Given the description of an element on the screen output the (x, y) to click on. 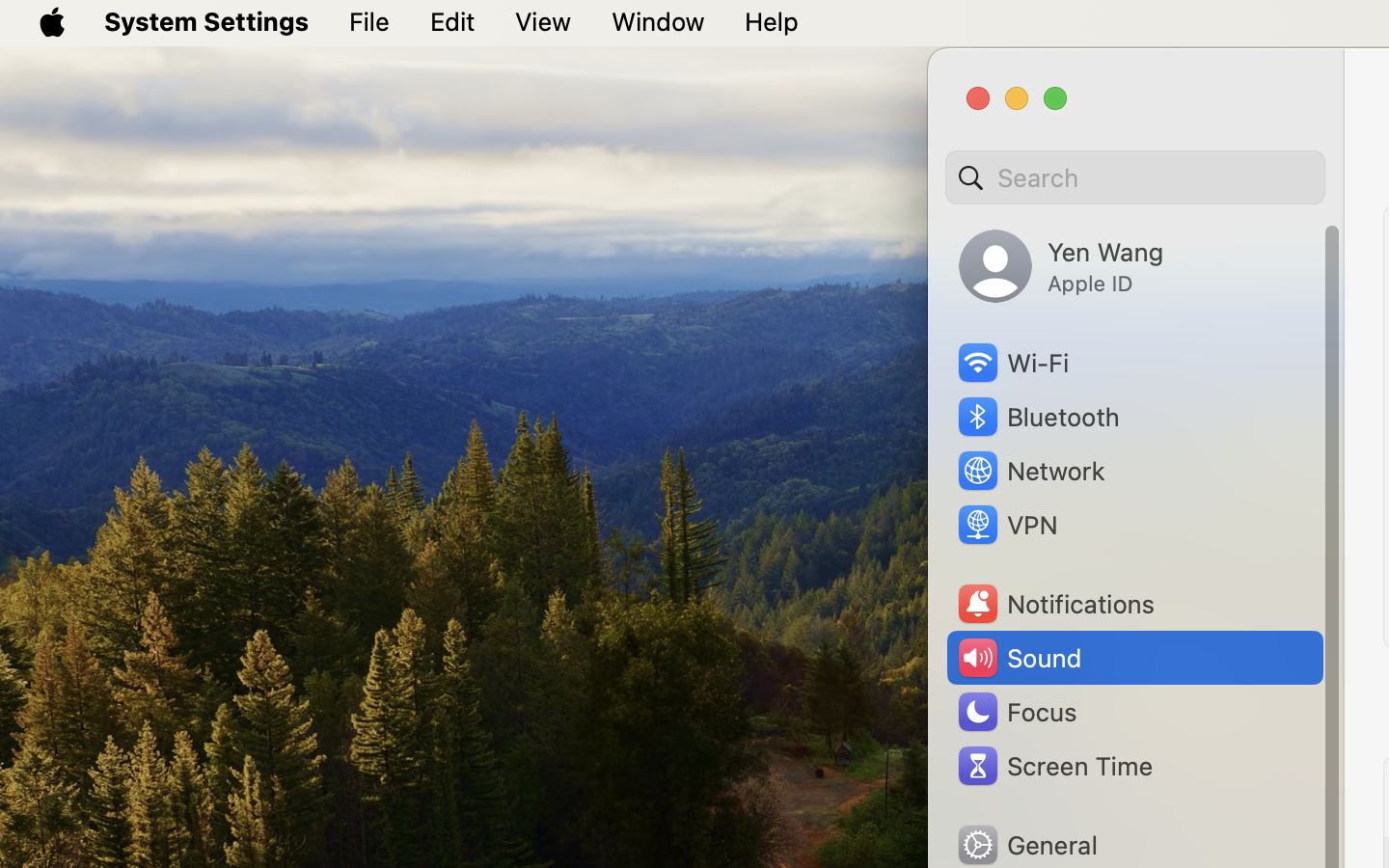
Notifications Element type: AXStaticText (1054, 603)
Focus Element type: AXStaticText (1015, 711)
Yen Wang, Apple ID Element type: AXStaticText (1060, 265)
General Element type: AXStaticText (1025, 844)
Sound Element type: AXStaticText (1018, 657)
